Given the description of an element on the screen output the (x, y) to click on. 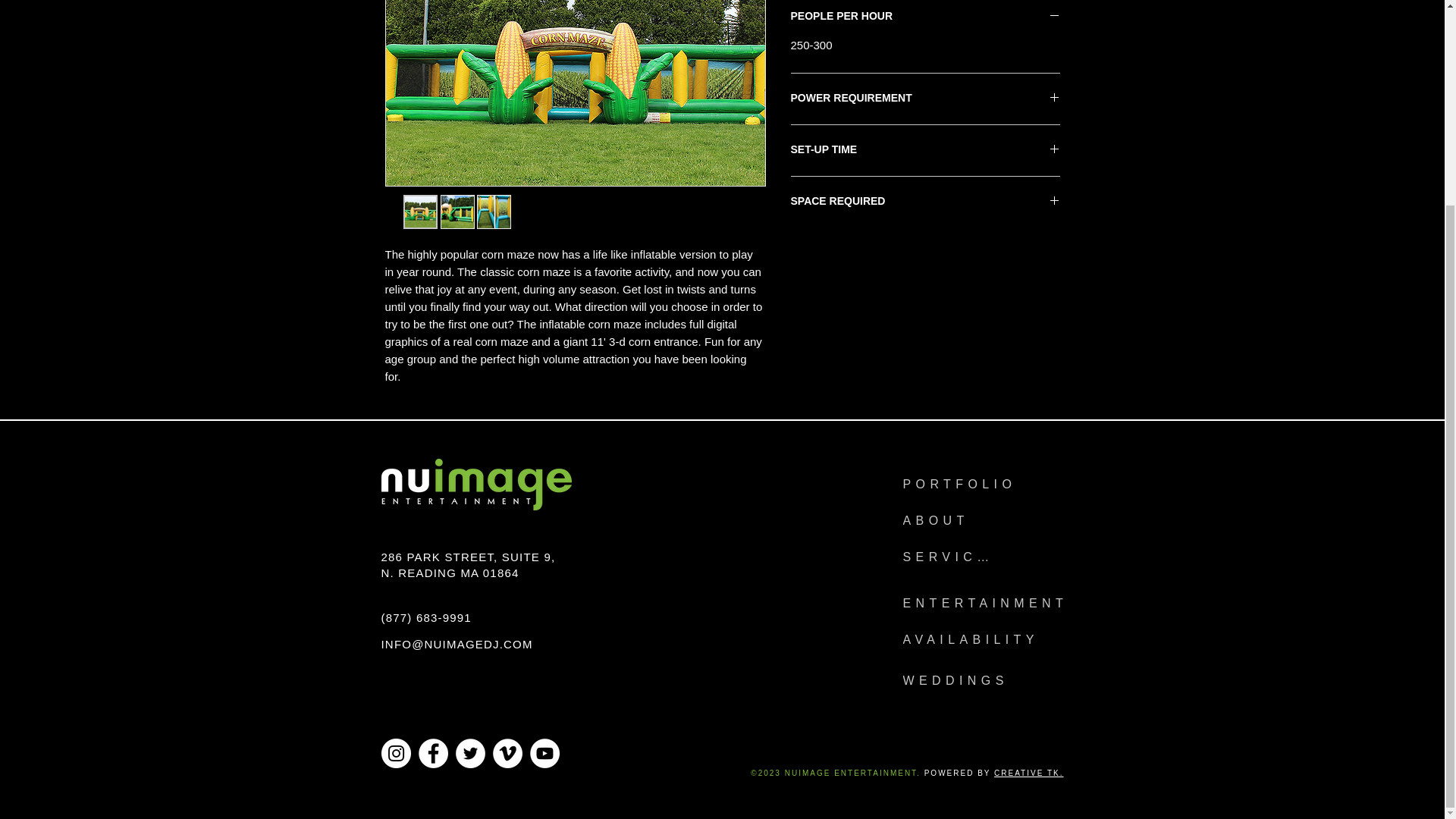
AVAILABILITY (982, 639)
WEDDINGS (967, 680)
ABOUT (943, 521)
ENTERTAINMENT (994, 603)
SERVICES (957, 557)
CREATIVE TK. (1028, 773)
PORTFOLIO (974, 484)
SPACE REQUIRED (924, 201)
SET-UP TIME (924, 150)
POWER REQUIREMENT (924, 98)
PEOPLE PER HOUR (924, 16)
